Given the description of an element on the screen output the (x, y) to click on. 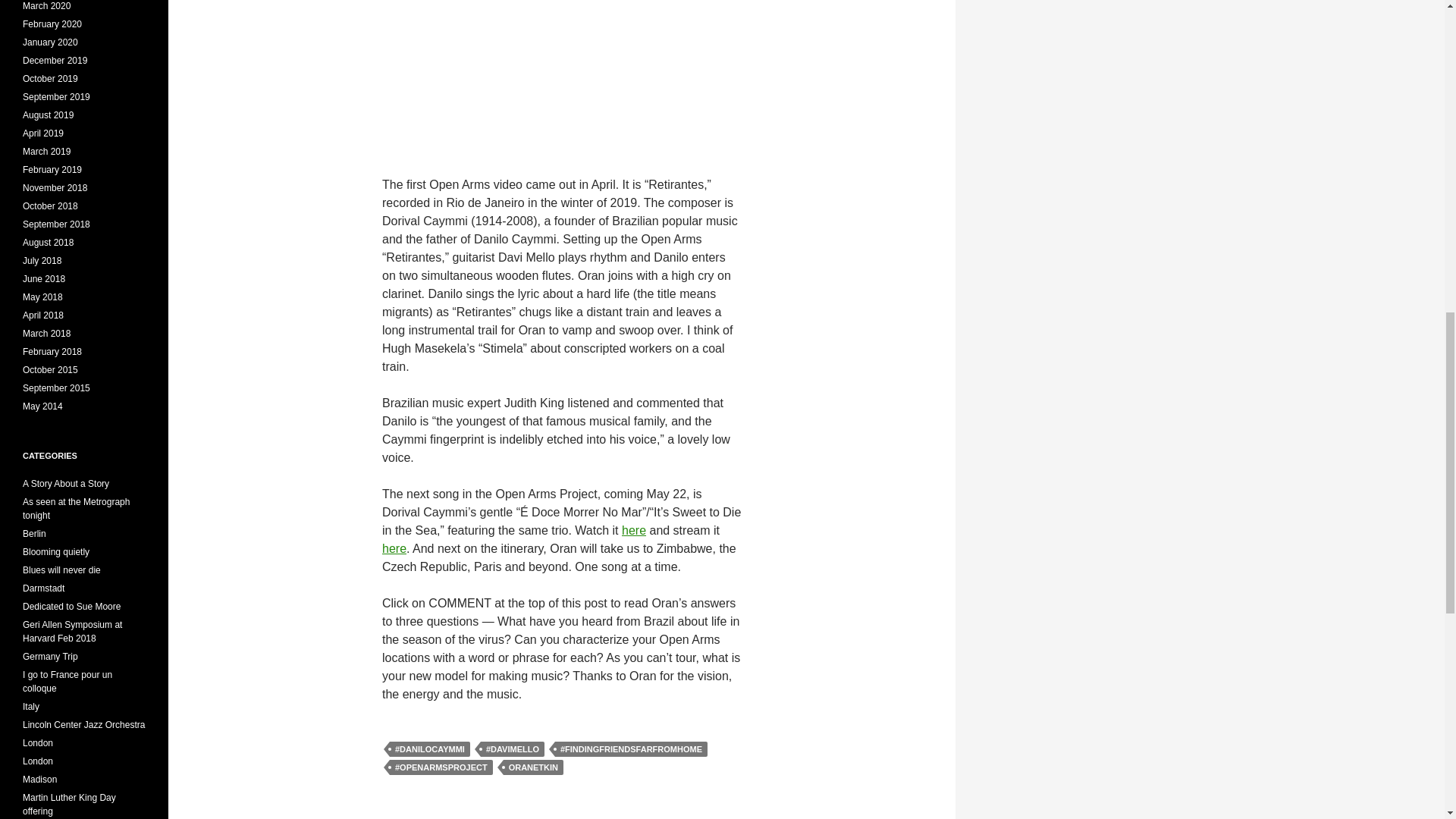
ORANETKIN (533, 767)
October 2019 (50, 78)
January 2020 (50, 41)
here (393, 548)
December 2019 (55, 60)
September 2019 (56, 96)
here (633, 530)
March 2020 (46, 5)
February 2020 (52, 23)
